Given the description of an element on the screen output the (x, y) to click on. 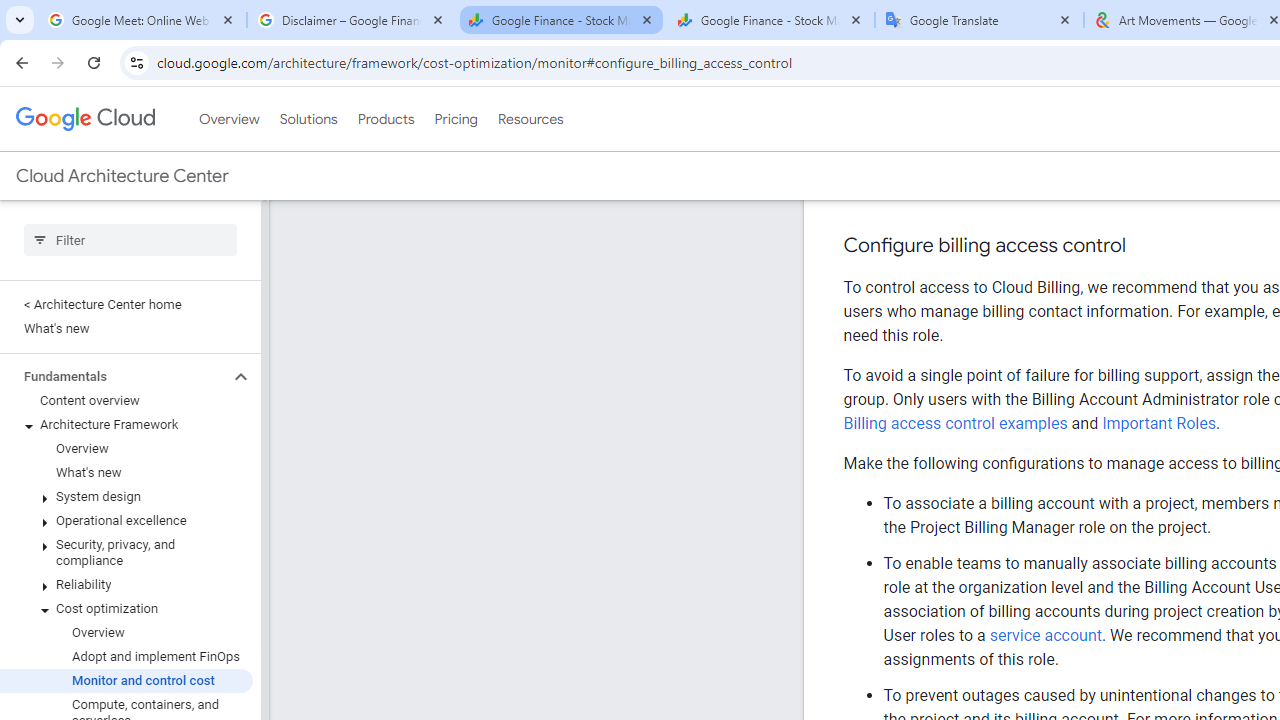
Fundamentals (114, 289)
Reliability (126, 497)
What's new (126, 385)
Adopt and implement FinOps (126, 569)
Compute, containers, and serverless (126, 625)
Storage (126, 657)
Copy link to this section: Configure billing access control (1145, 159)
Security, privacy, and compliance (126, 465)
